Given the description of an element on the screen output the (x, y) to click on. 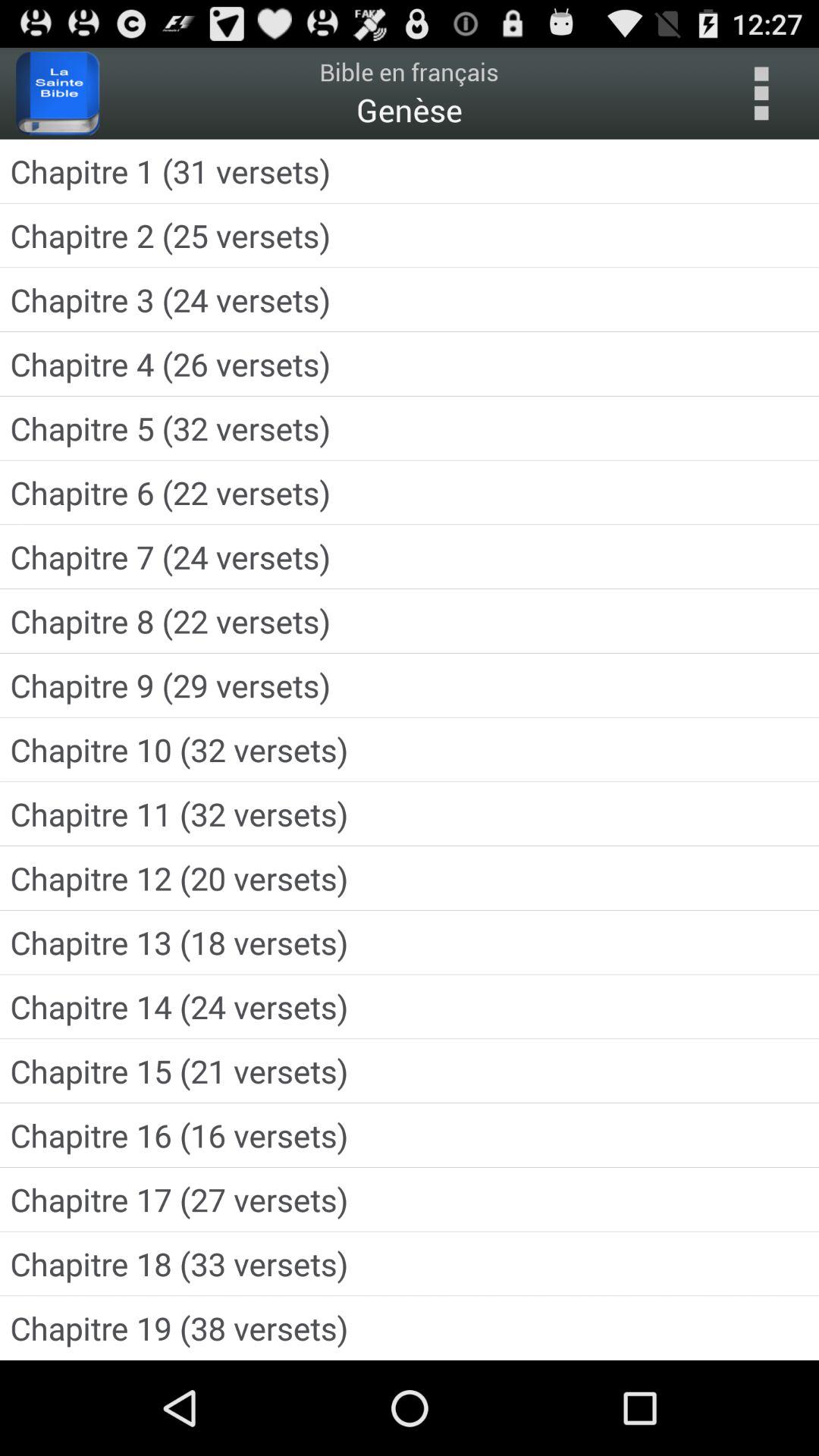
select icon above chapitre 13 18 (409, 877)
